Given the description of an element on the screen output the (x, y) to click on. 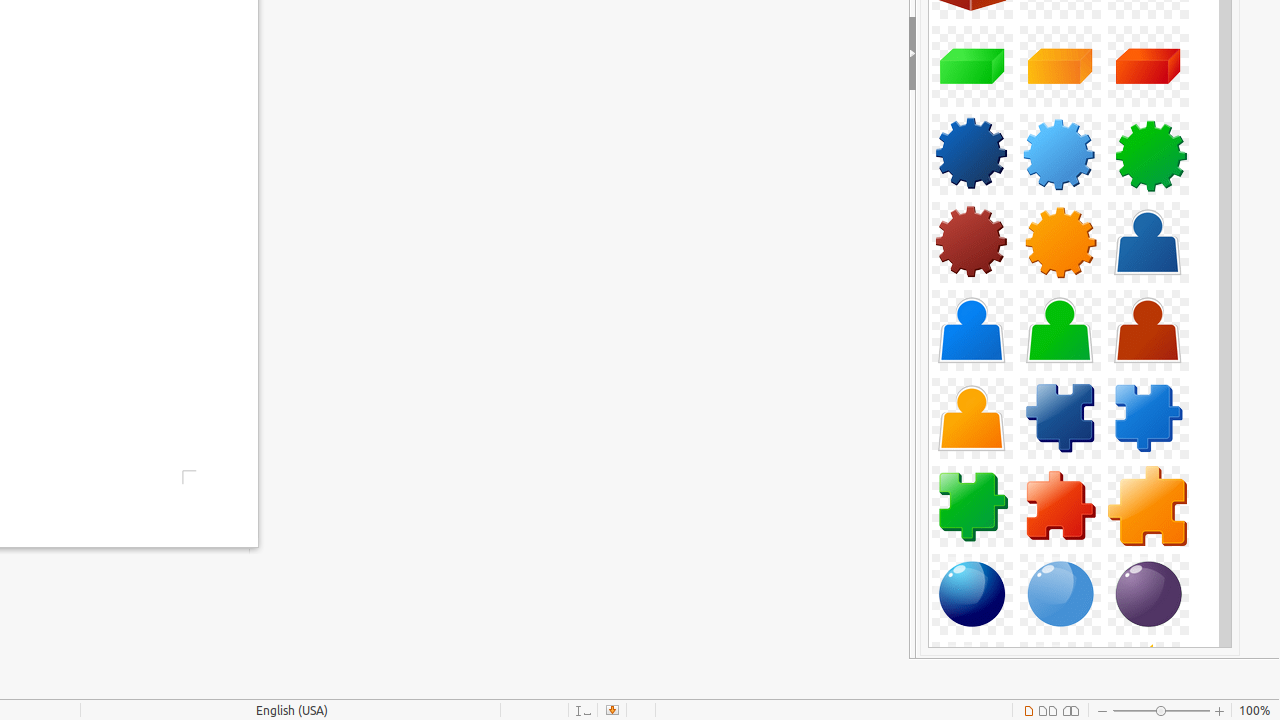
Component-Cuboid03-Green Element type: list-item (972, 65)
